Given the description of an element on the screen output the (x, y) to click on. 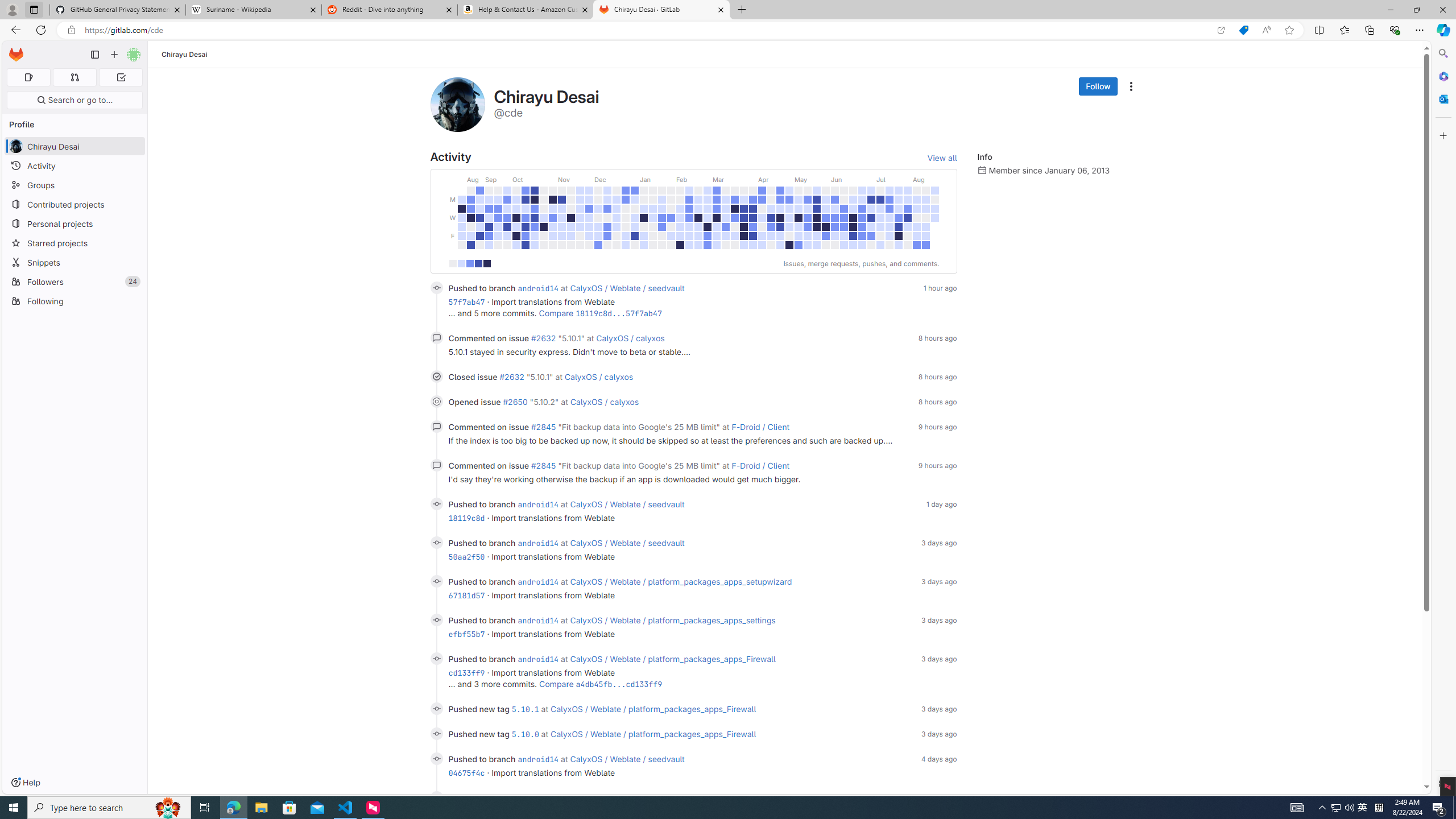
5.10.0 (524, 733)
67181d57 (466, 595)
